Given the description of an element on the screen output the (x, y) to click on. 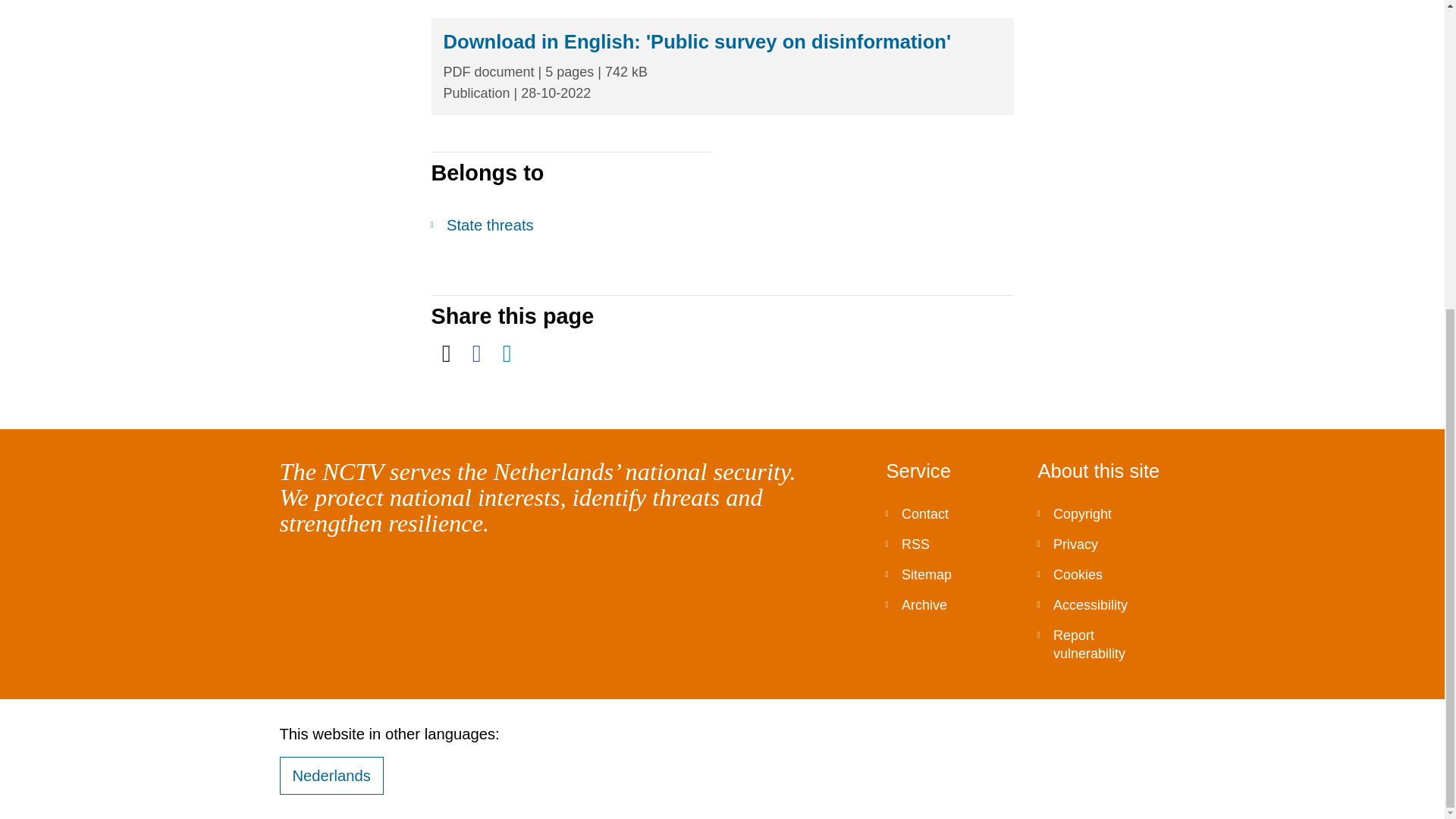
Share this page on your Twitter account (445, 353)
Accessibility (1100, 604)
Report vulnerability (1100, 644)
Copyright (1100, 513)
Nederlands (330, 775)
State threats (570, 224)
Contact (949, 513)
Sitemap (949, 574)
Share this page on your LinkedIn account (506, 353)
Cookies (1100, 574)
RSS (949, 544)
Share this page on your Facebook account (476, 353)
Archive (949, 604)
Privacy (1100, 544)
